Given the description of an element on the screen output the (x, y) to click on. 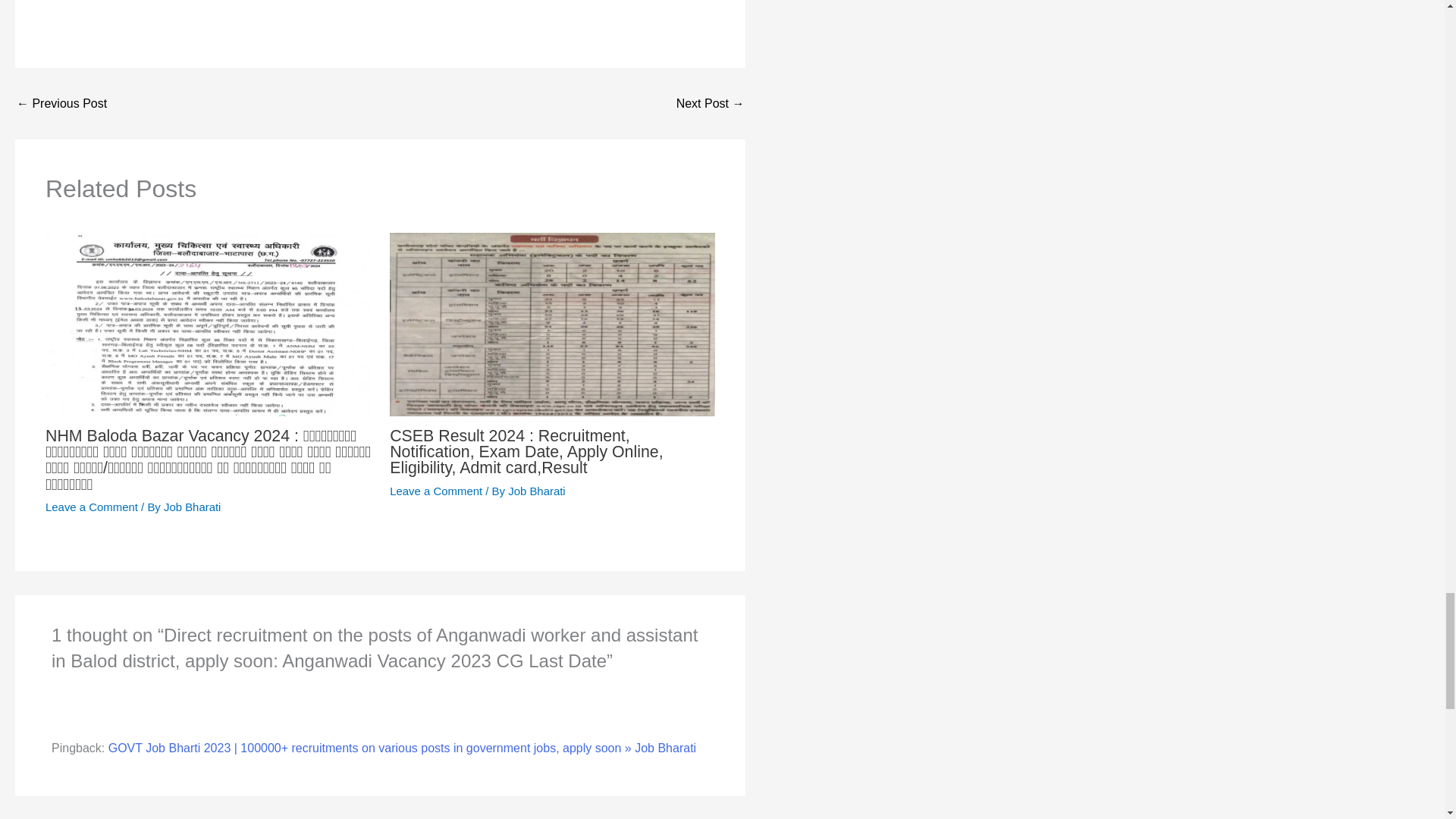
View all posts by Job Bharati (536, 490)
View all posts by Job Bharati (192, 506)
